Given the description of an element on the screen output the (x, y) to click on. 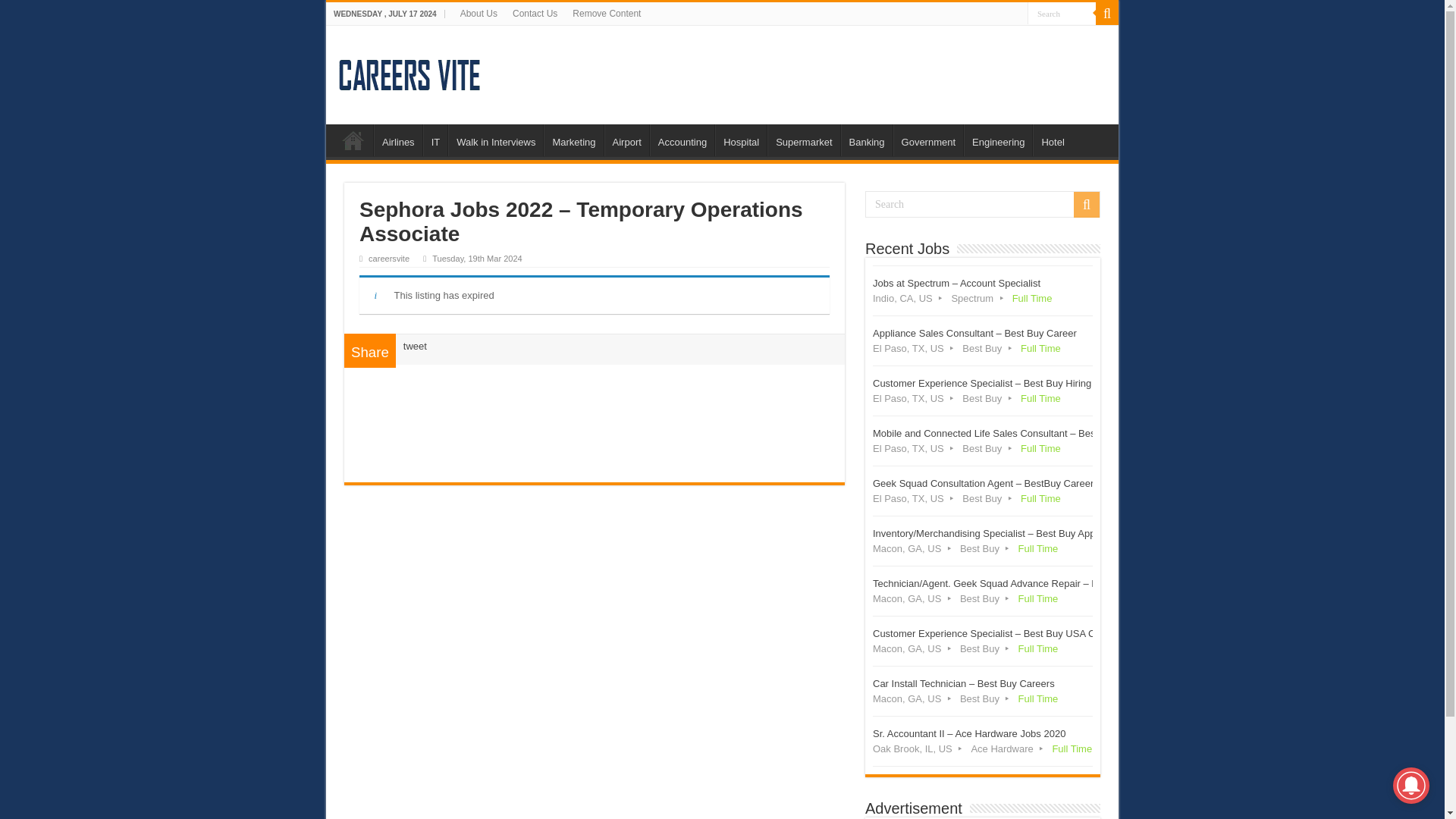
Banking (866, 140)
Advertisement (594, 418)
Hotel (1051, 140)
Search (1086, 204)
Walk in Interviews (495, 140)
Search (982, 203)
Accounting (681, 140)
Home (352, 140)
Search (1061, 13)
Supermarket (803, 140)
Remove Content (605, 13)
Engineering (997, 140)
Hospital (740, 140)
Search (1061, 13)
Government (928, 140)
